Given the description of an element on the screen output the (x, y) to click on. 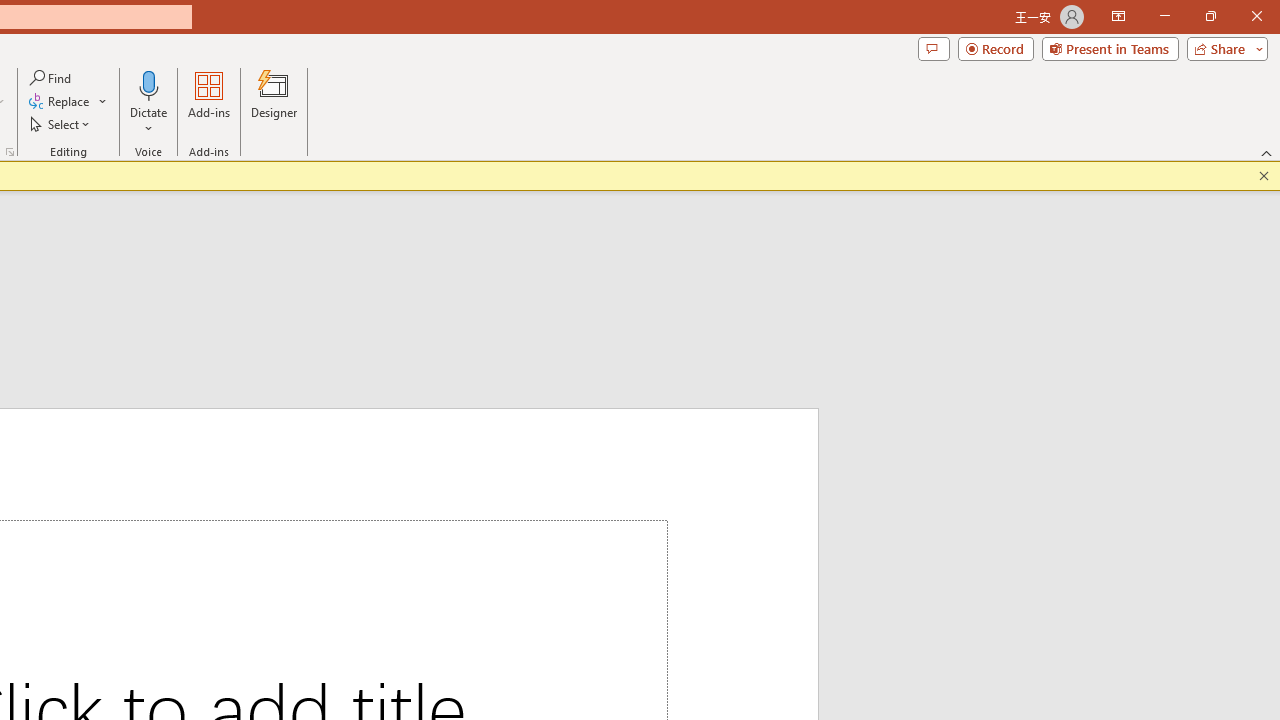
Format Object... (9, 151)
Select (61, 124)
Close this message (1263, 176)
